Given the description of an element on the screen output the (x, y) to click on. 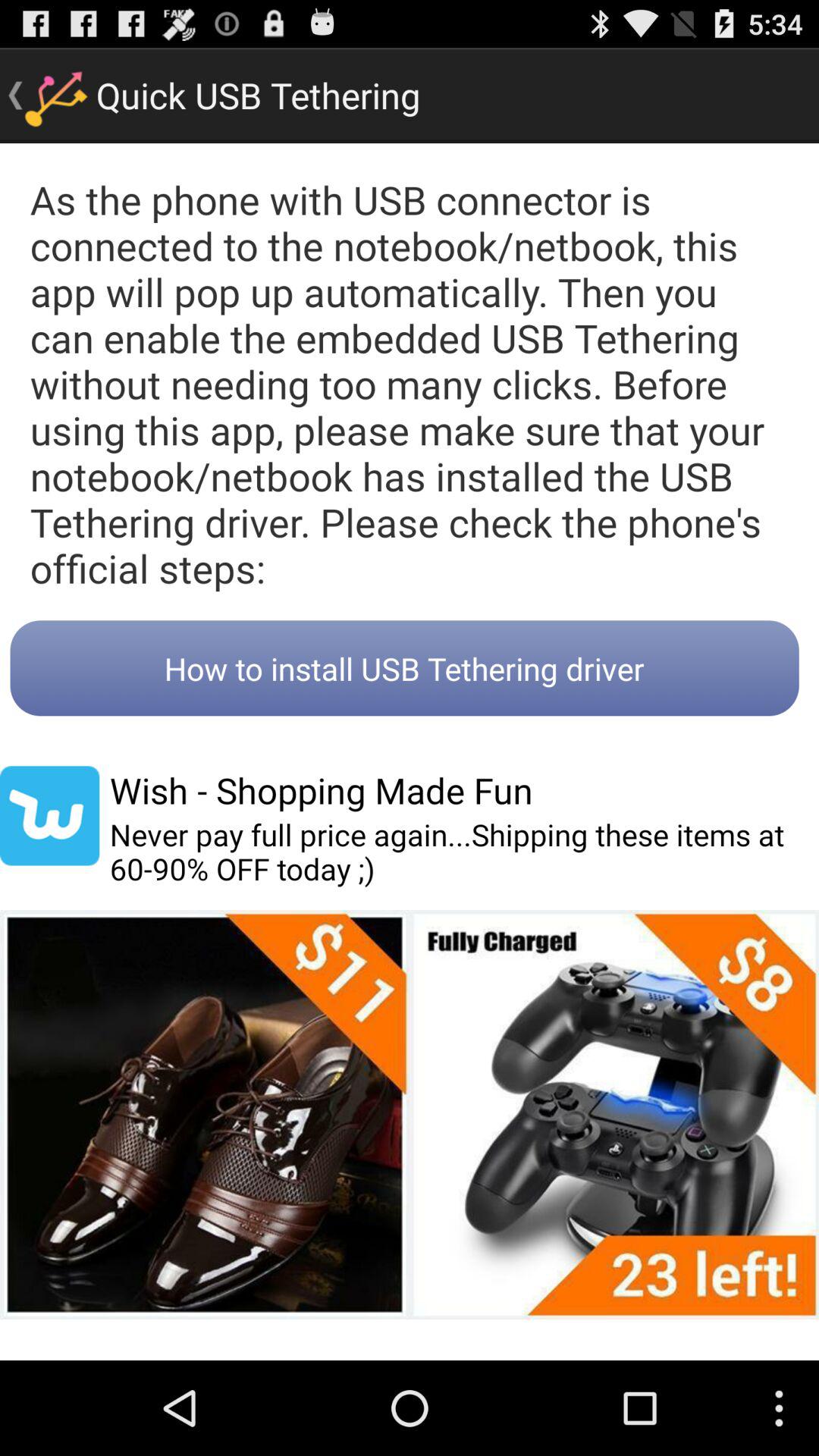
turn off the item below wish shopping made item (464, 852)
